Given the description of an element on the screen output the (x, y) to click on. 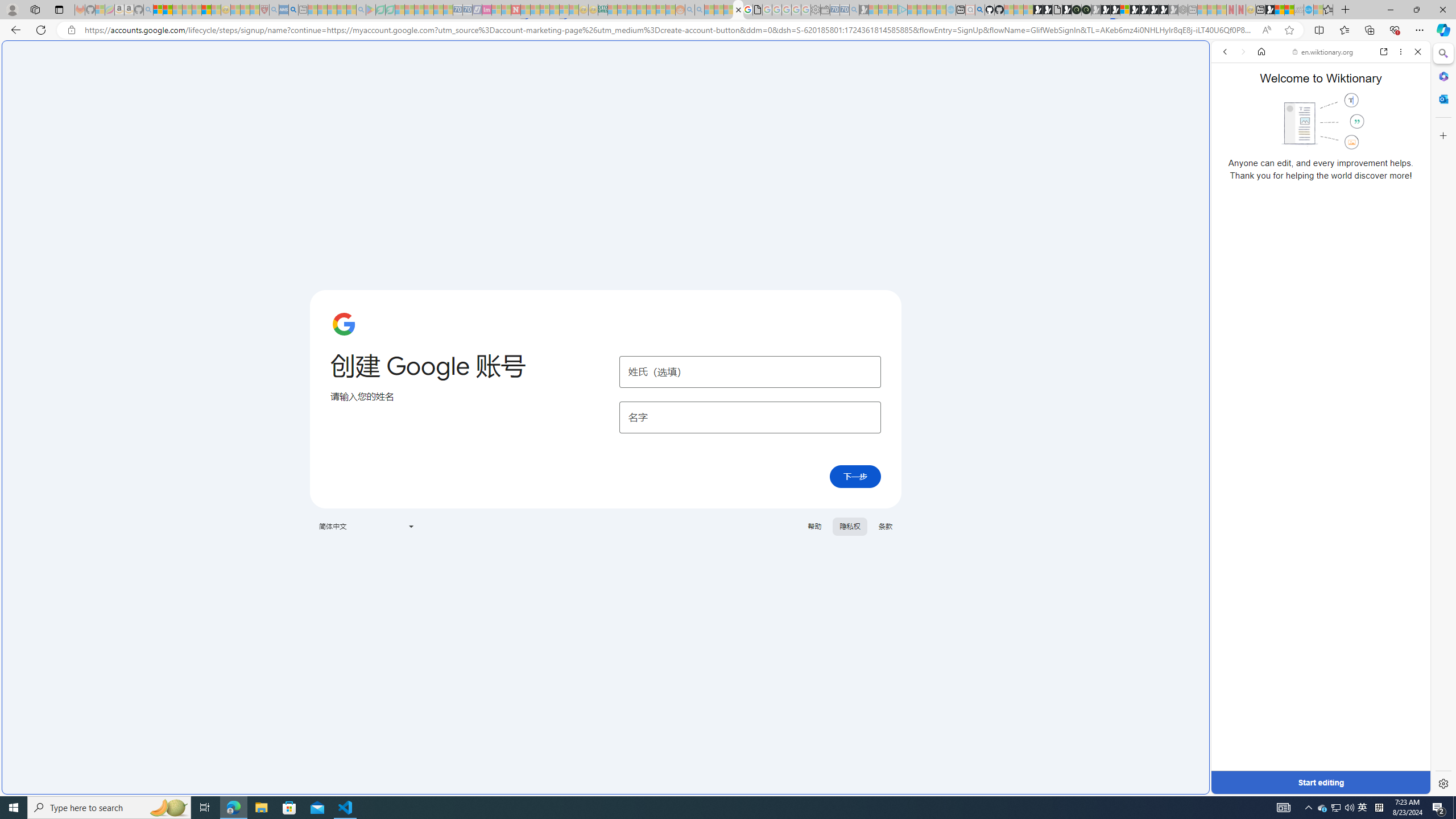
utah sues federal government - Search (922, 389)
en.wiktionary.org (1323, 51)
